Given the description of an element on the screen output the (x, y) to click on. 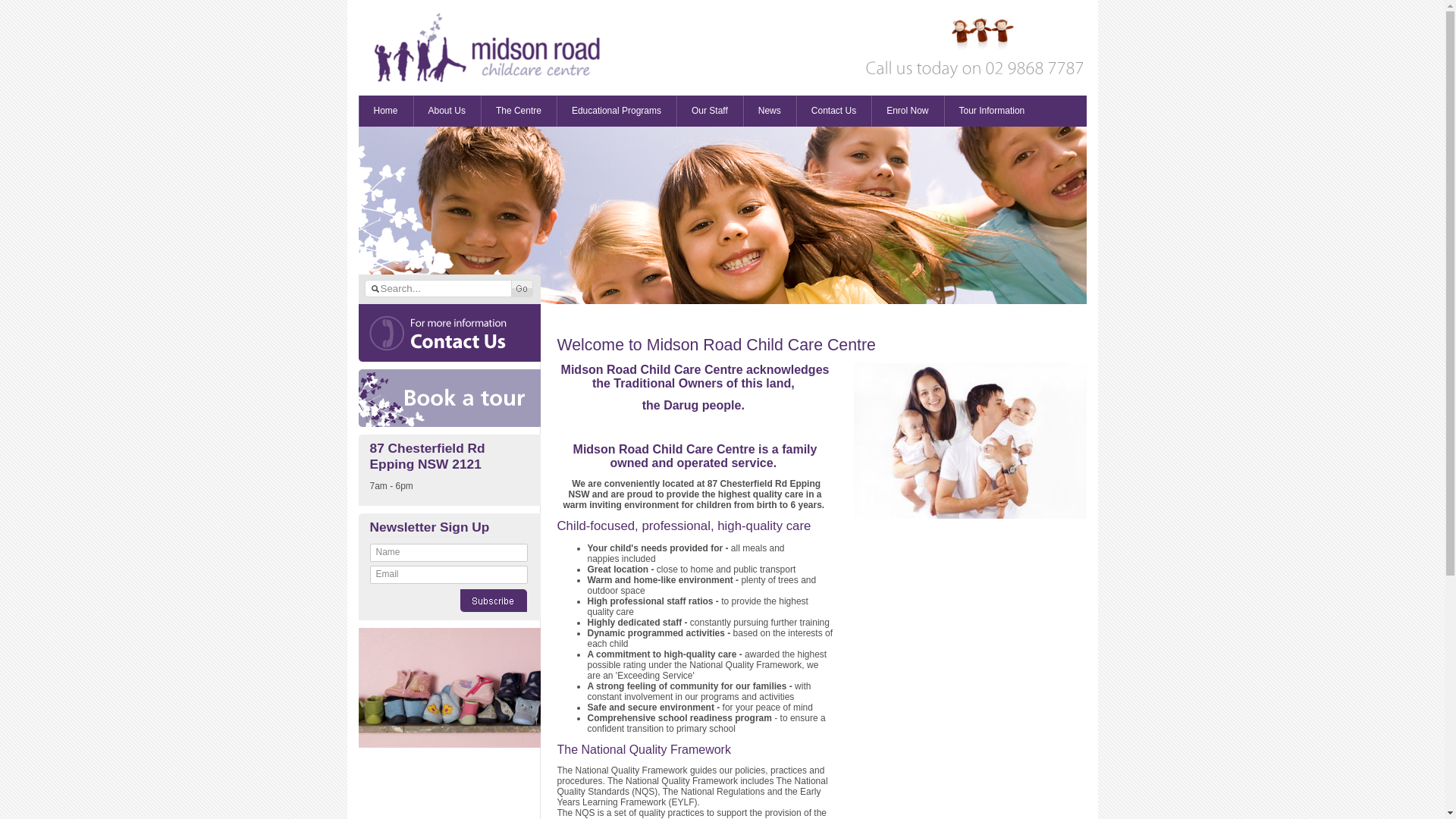
Contact Us Element type: text (833, 110)
Educational Programs Element type: text (616, 110)
News Element type: text (769, 110)
Our Staff Element type: text (709, 110)
Enrol Now Element type: text (907, 110)
Tour Information Element type: text (992, 110)
About Us Element type: text (446, 110)
Home Element type: text (384, 110)
The Centre Element type: text (518, 110)
